Given the description of an element on the screen output the (x, y) to click on. 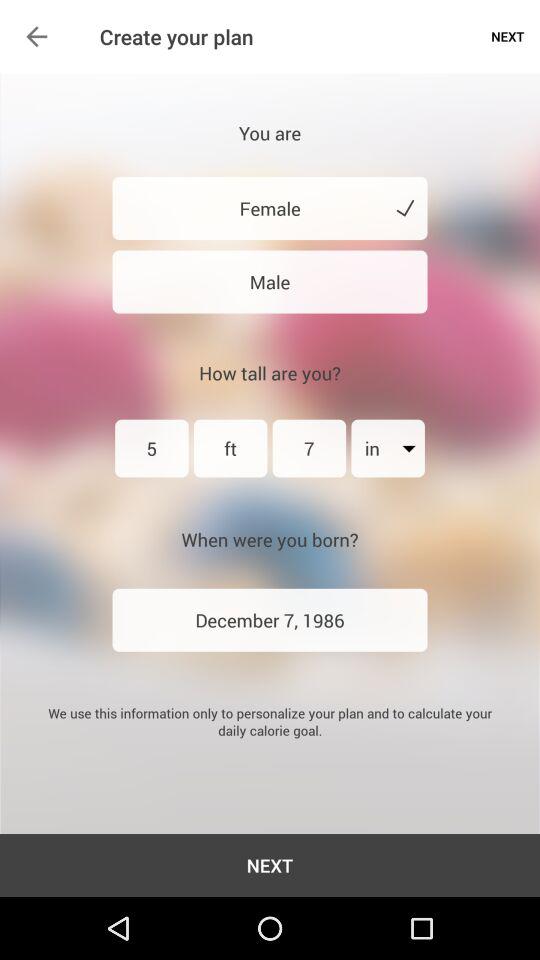
select the option male on the web page (270, 281)
click on third box of how tall are you from left (309, 448)
select the first text field below the text how tall are you on the web page (152, 448)
